Given the description of an element on the screen output the (x, y) to click on. 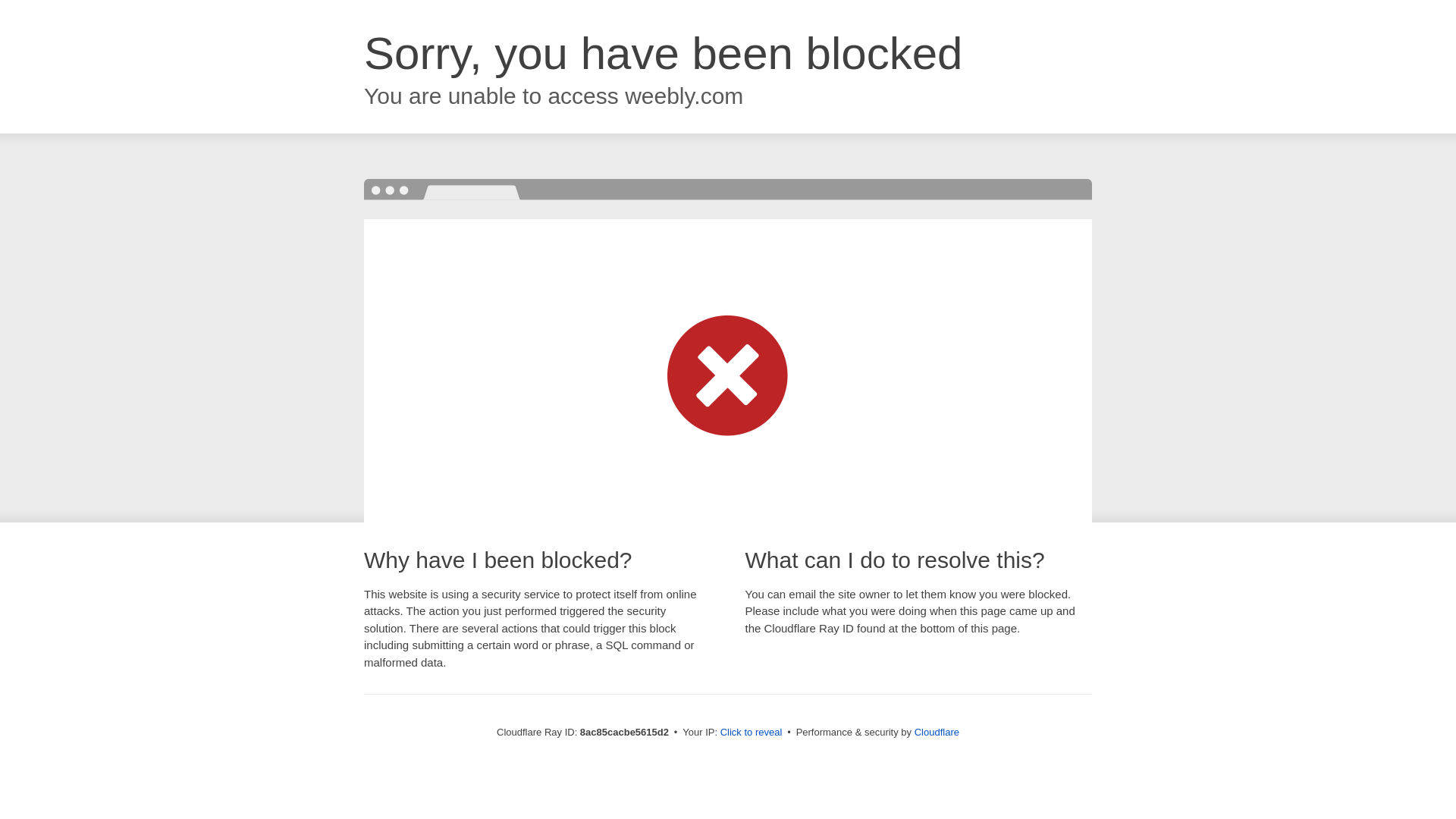
Click to reveal (751, 732)
Cloudflare (936, 731)
